Given the description of an element on the screen output the (x, y) to click on. 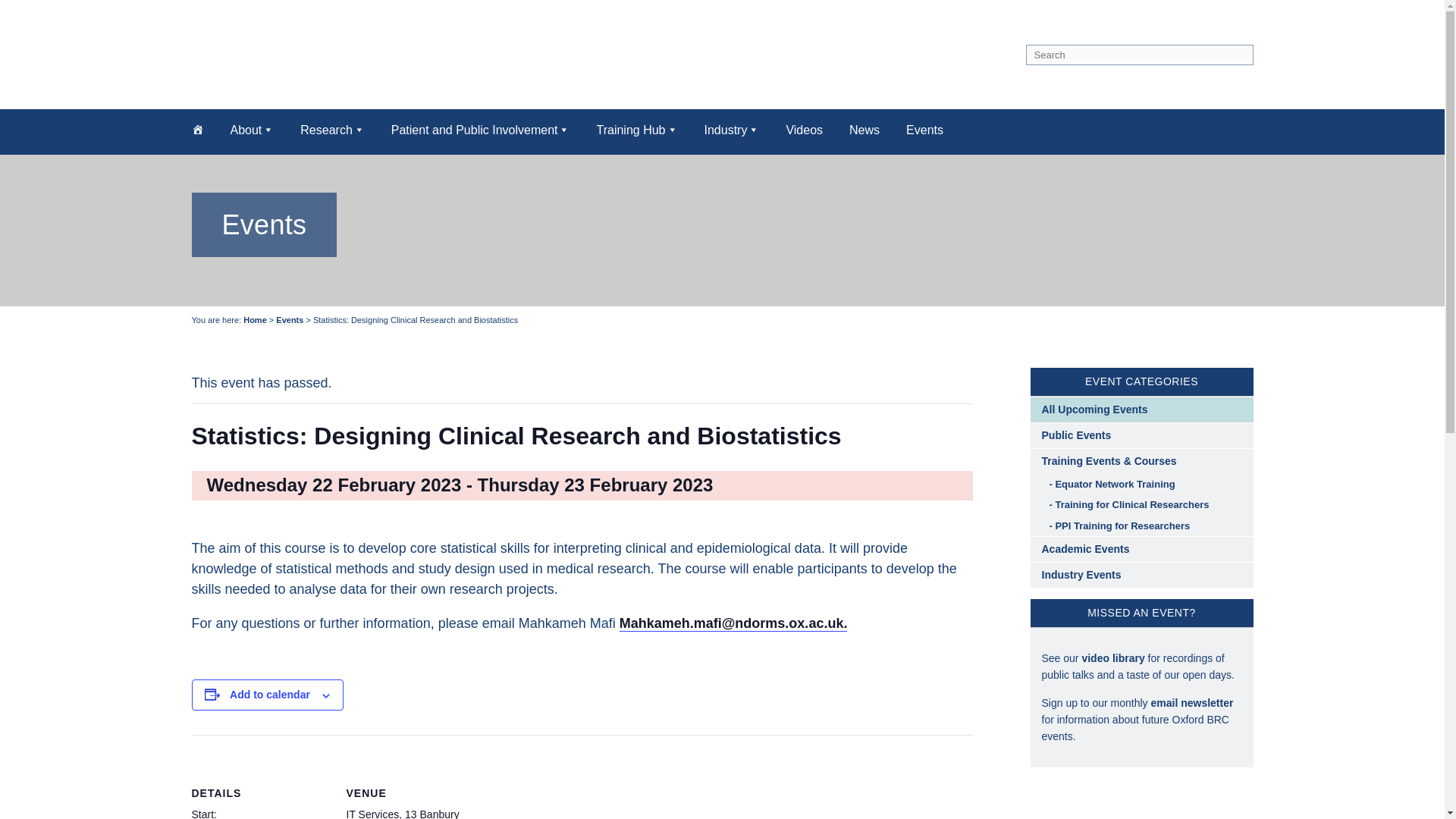
Patient and Public Involvement (480, 129)
Research (331, 129)
About (252, 129)
Training Hub (636, 129)
NIHR Oxford Biomedical Research Centre (380, 50)
